Given the description of an element on the screen output the (x, y) to click on. 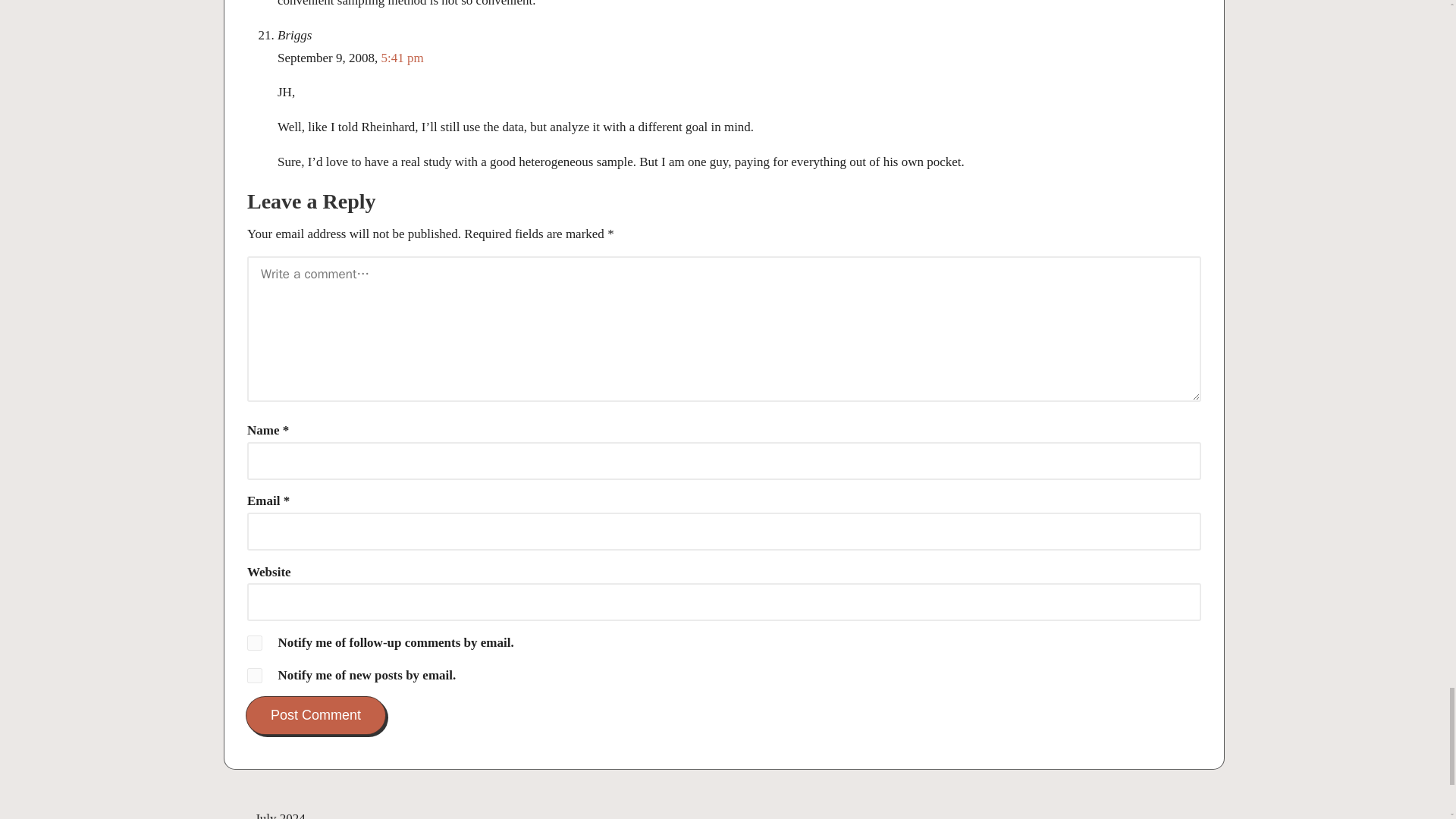
subscribe (254, 642)
Post Comment (315, 715)
subscribe (254, 675)
